Given the description of an element on the screen output the (x, y) to click on. 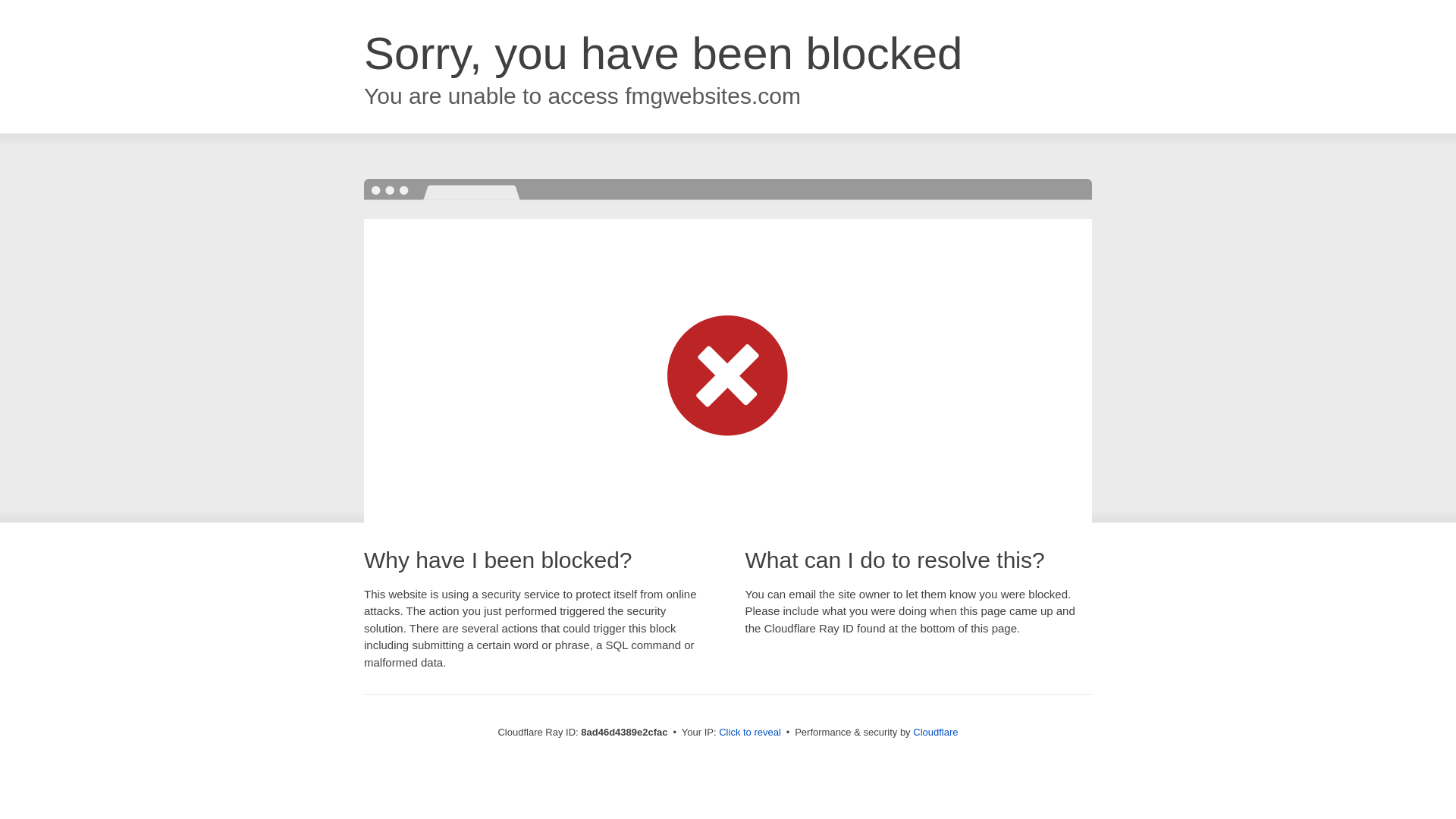
Cloudflare (935, 731)
Click to reveal (749, 732)
